Given the description of an element on the screen output the (x, y) to click on. 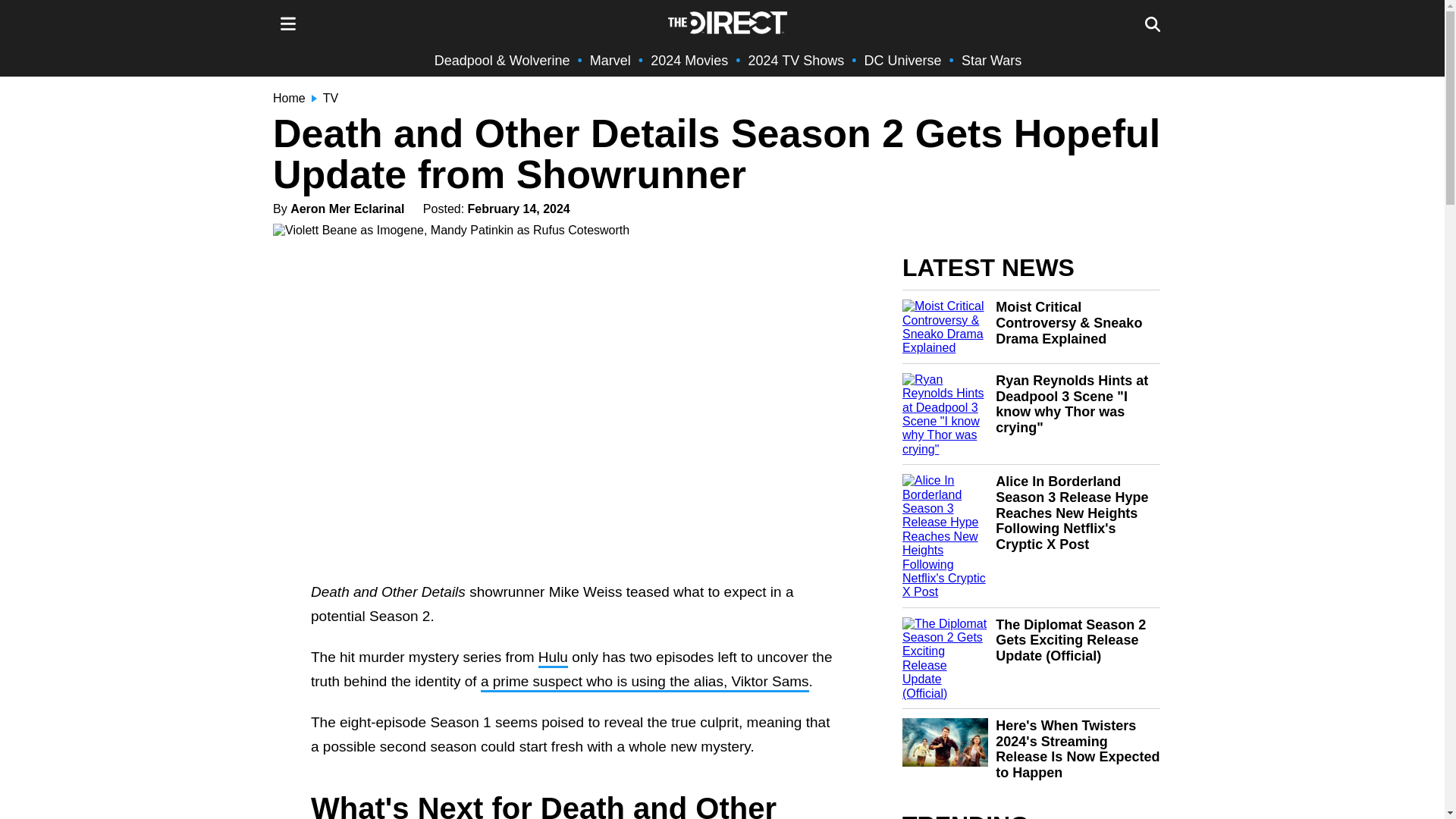
2024 TV Shows (796, 60)
2024 Movies (689, 60)
DC Universe (903, 60)
Star Wars (991, 60)
Marvel (609, 60)
